Given the description of an element on the screen output the (x, y) to click on. 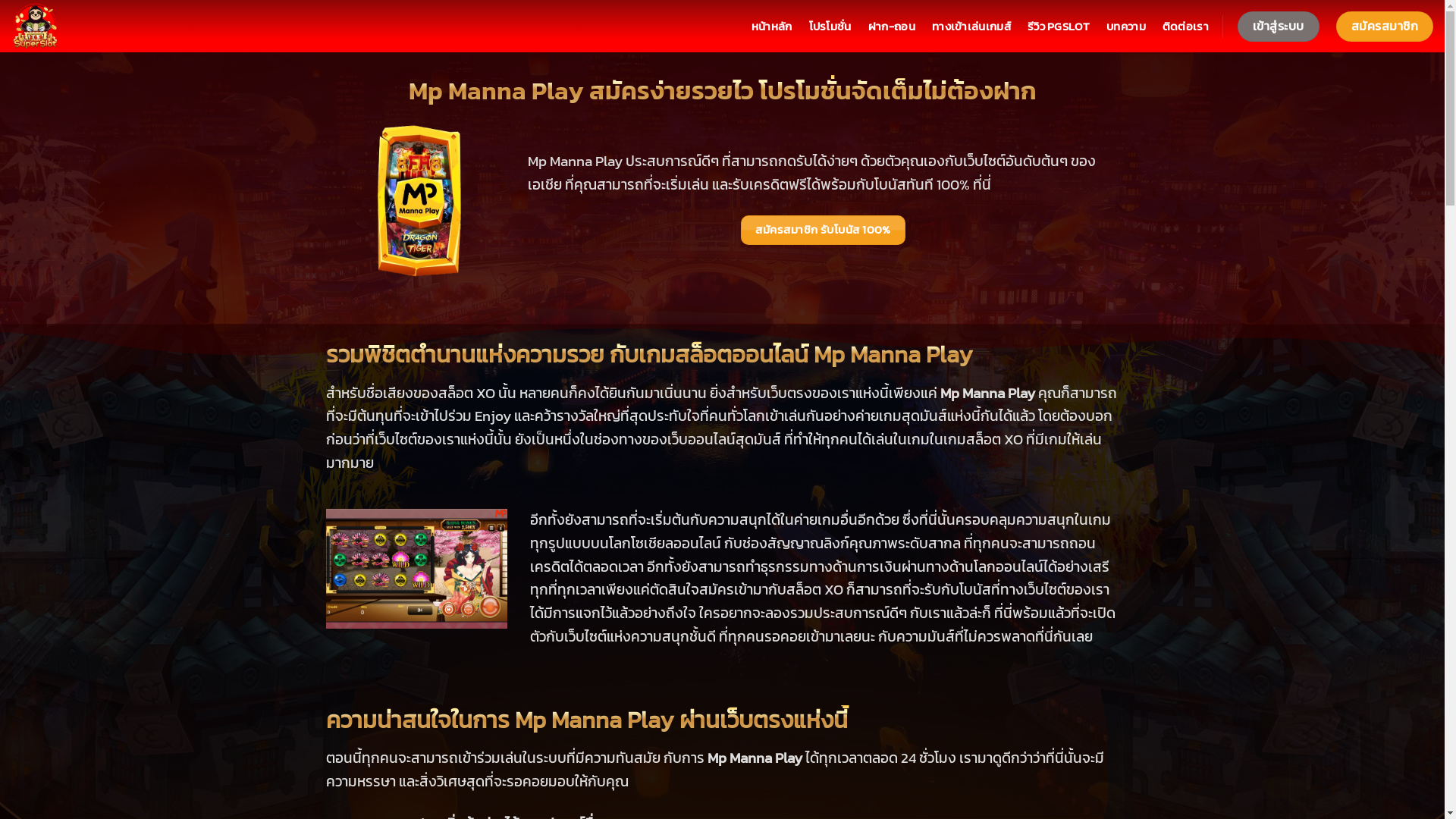
Skip to content Element type: text (0, 0)
